Given the description of an element on the screen output the (x, y) to click on. 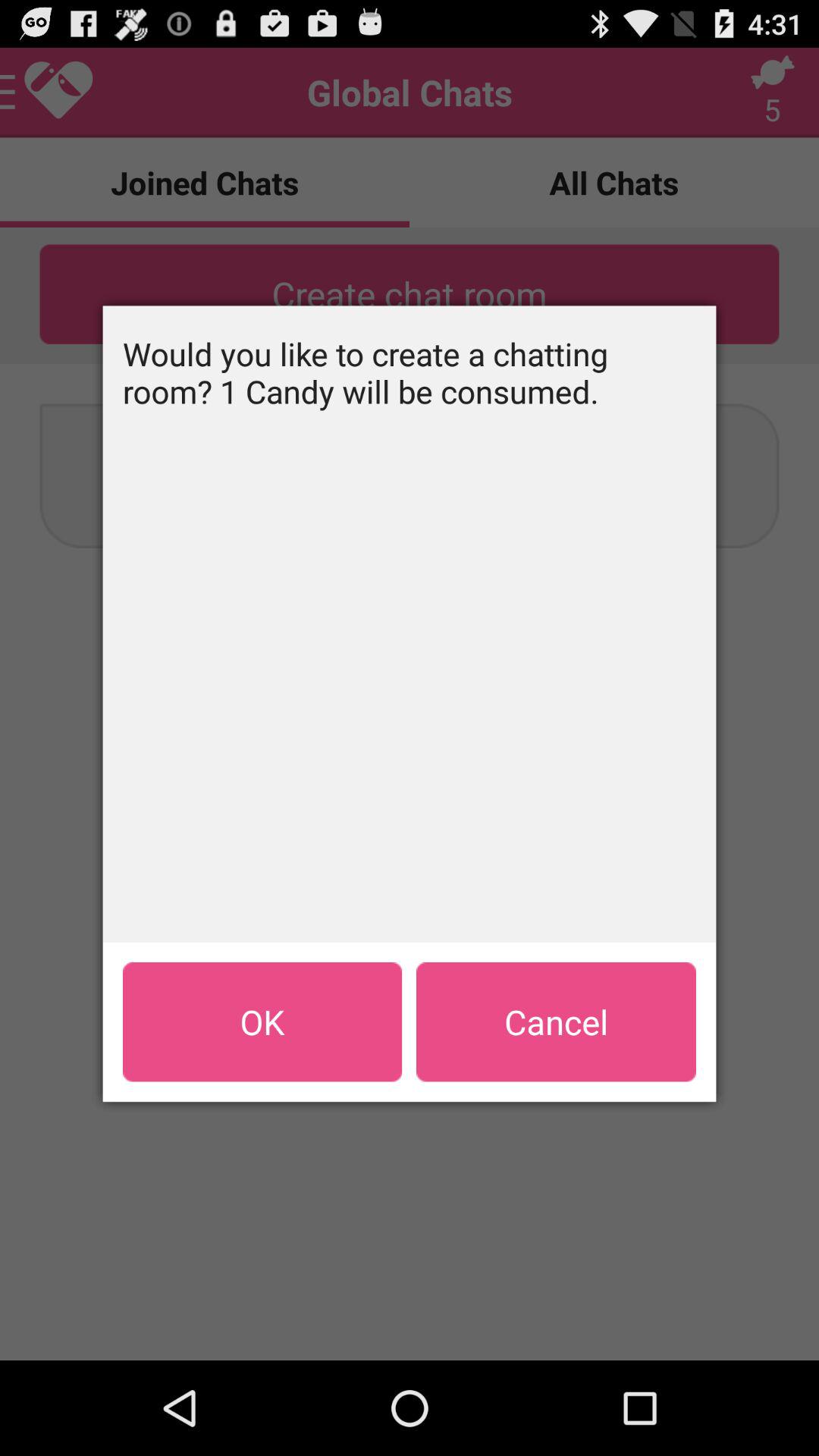
press the icon below would you like app (262, 1021)
